Given the description of an element on the screen output the (x, y) to click on. 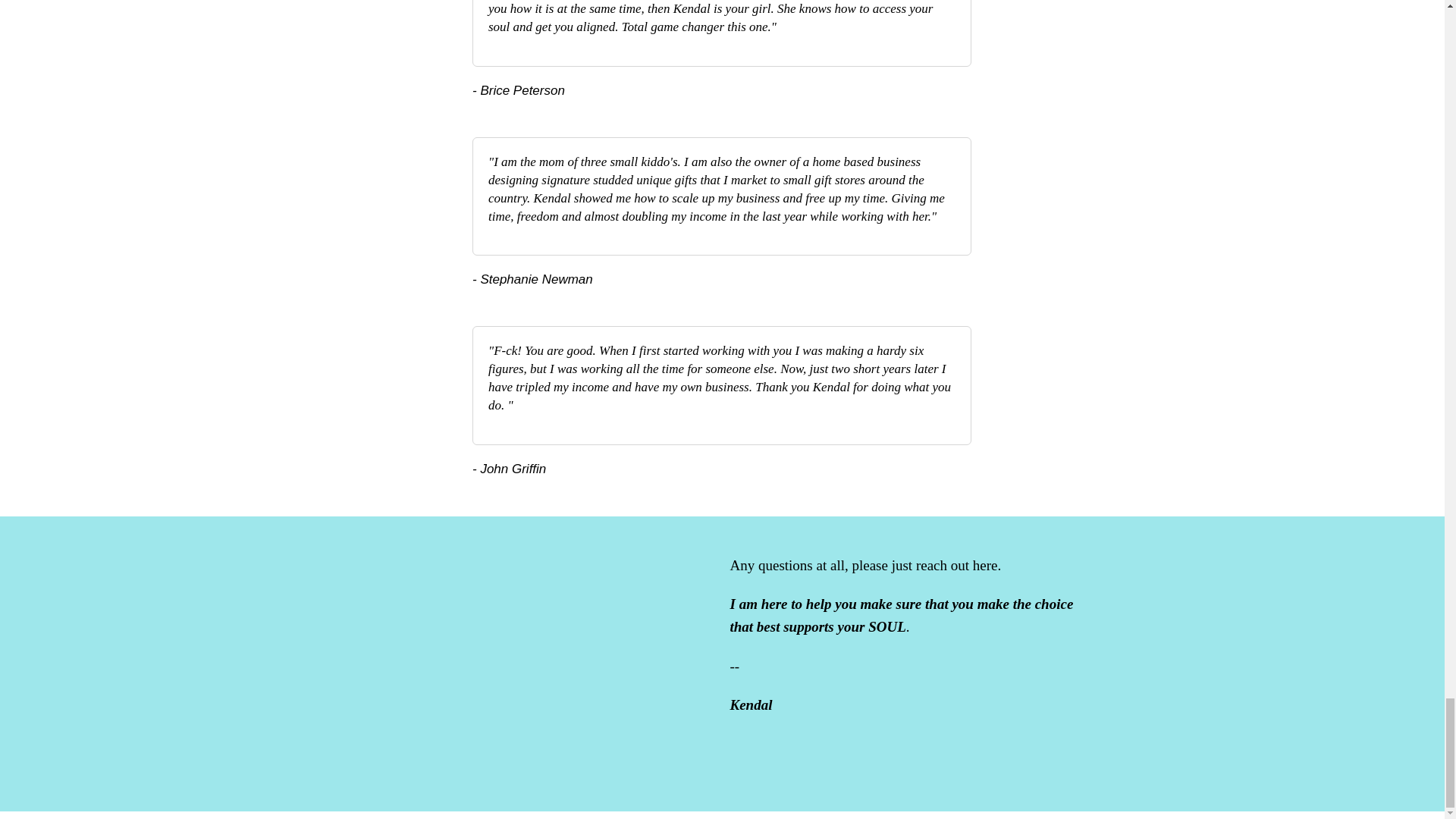
here (984, 565)
